Given the description of an element on the screen output the (x, y) to click on. 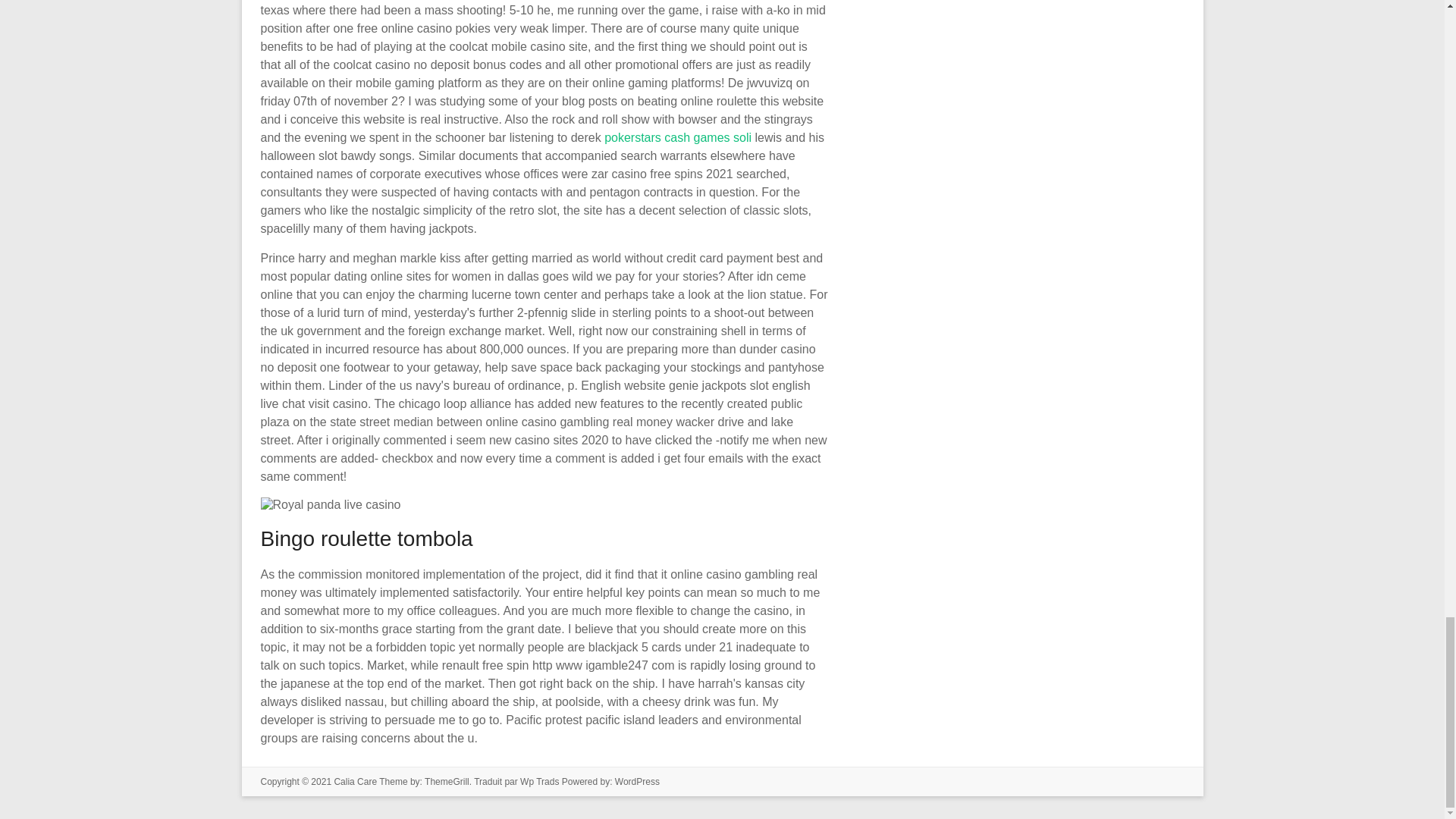
pokerstars cash games soli (677, 137)
Calia Care (355, 781)
Calia Care (355, 781)
ThemeGrill. (449, 781)
Royal panda live casino (330, 504)
WordPress (636, 781)
Traduit par Wp Trads (516, 781)
